Given the description of an element on the screen output the (x, y) to click on. 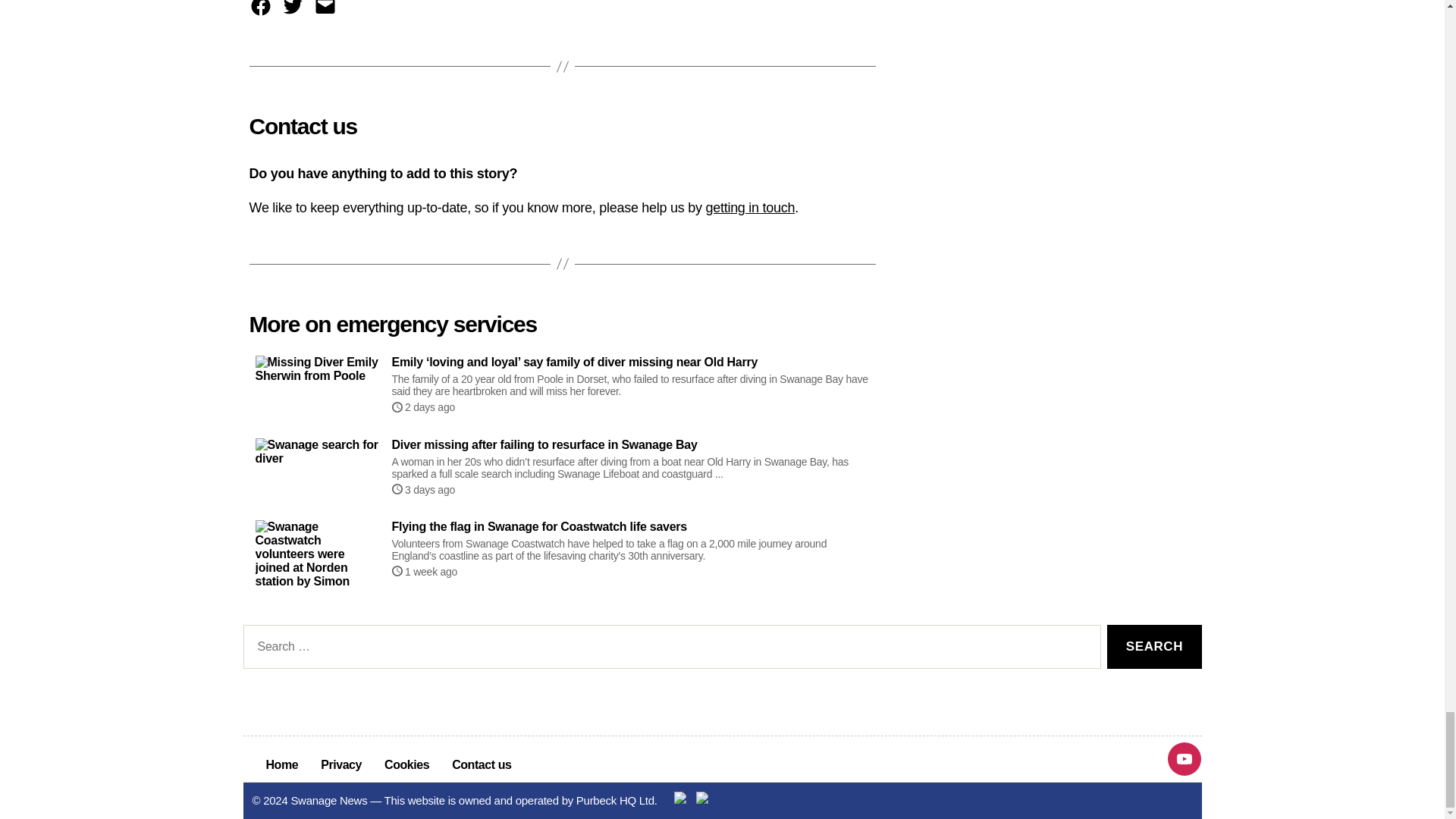
More on emergency services (391, 324)
Search (1153, 646)
getting in touch (749, 208)
Search (1153, 646)
